Given the description of an element on the screen output the (x, y) to click on. 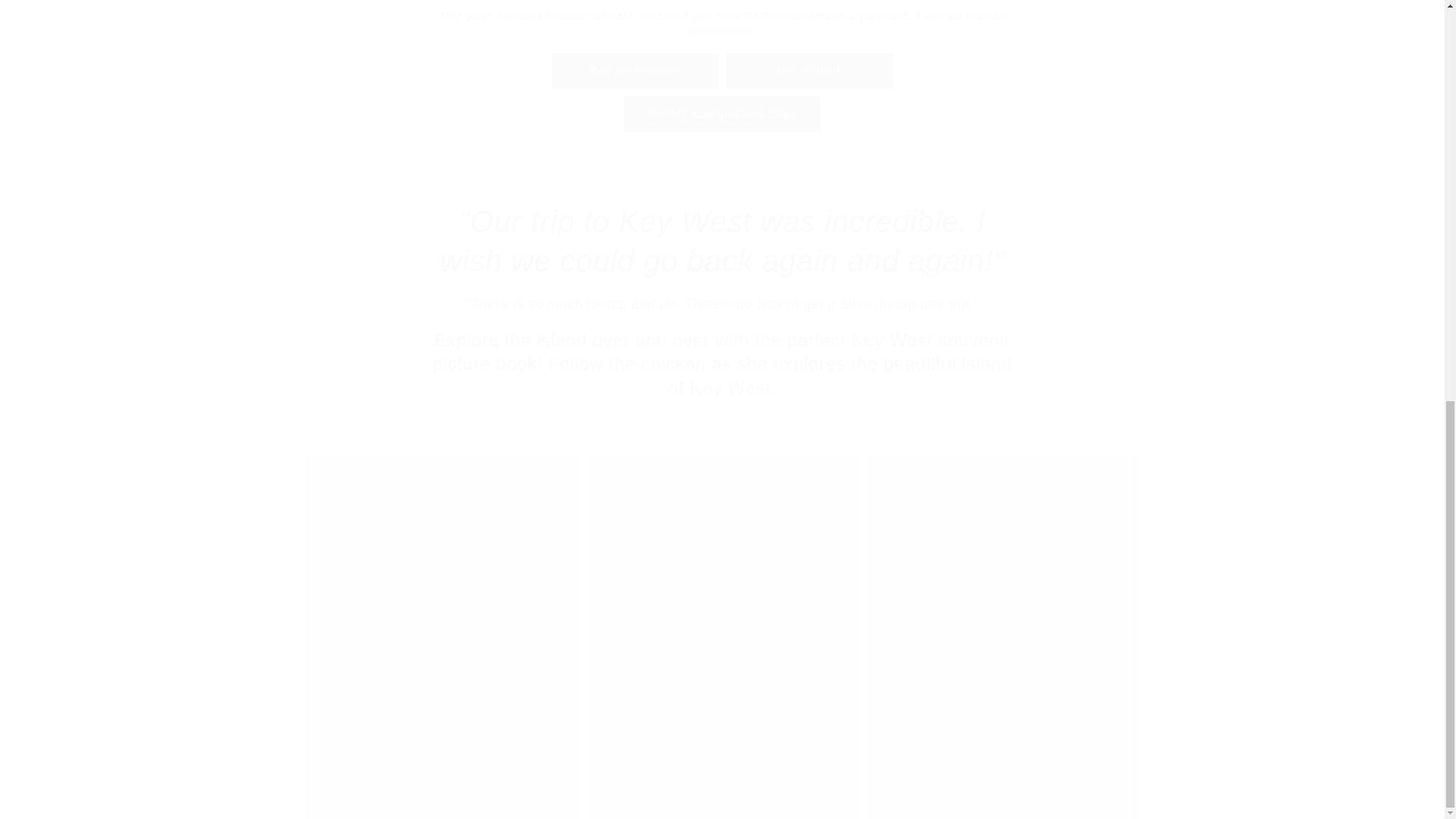
Buy on Amazon (635, 70)
Get My Autographed Copy (722, 113)
Get My Autographed Copy (722, 113)
Buy in Bulk (722, 70)
